Given the description of an element on the screen output the (x, y) to click on. 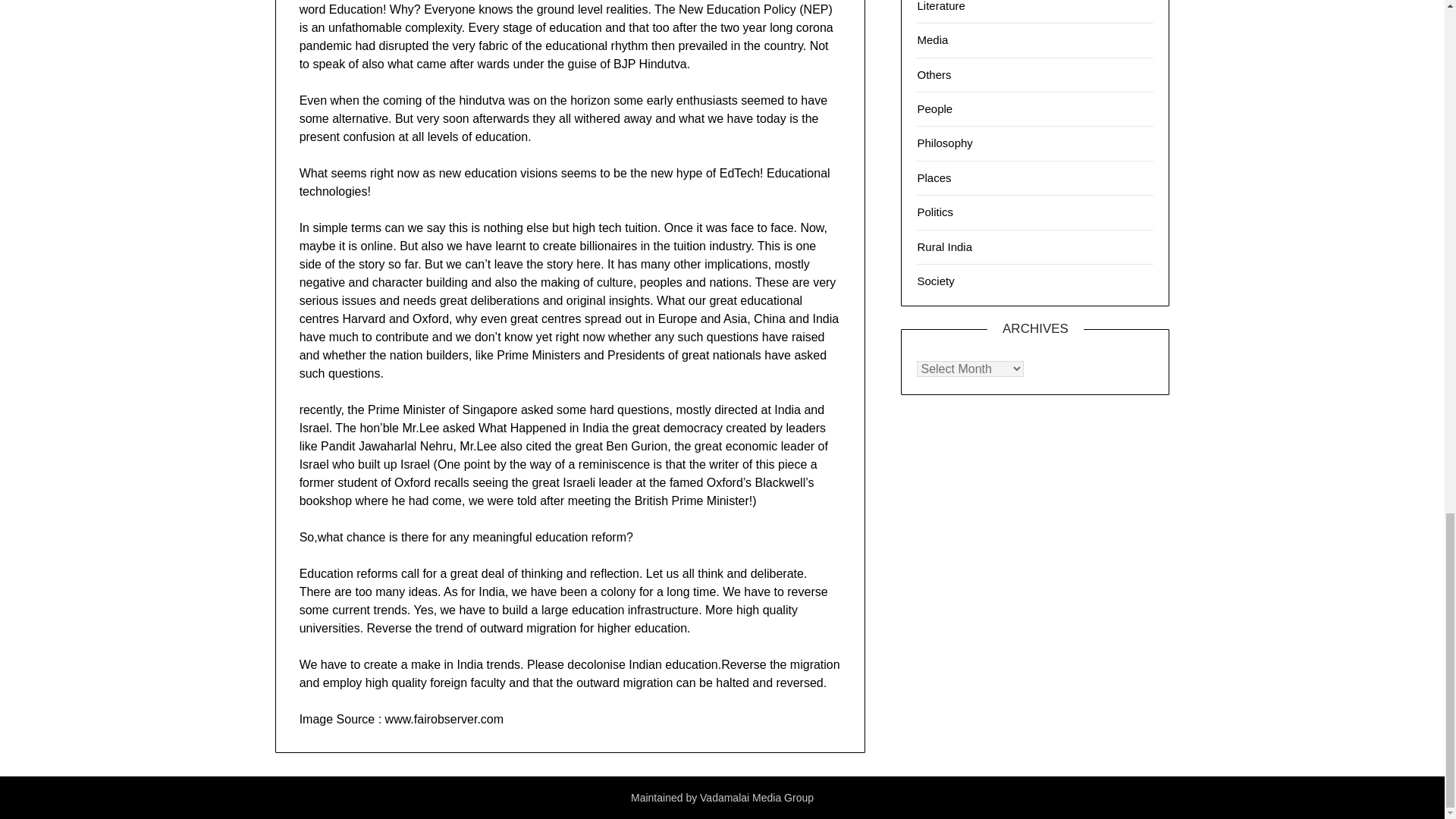
Literature (940, 6)
Places (933, 177)
Others (933, 74)
Media (932, 39)
Politics (935, 211)
Rural India (944, 246)
People (934, 108)
Philosophy (944, 142)
Society (935, 280)
